Given the description of an element on the screen output the (x, y) to click on. 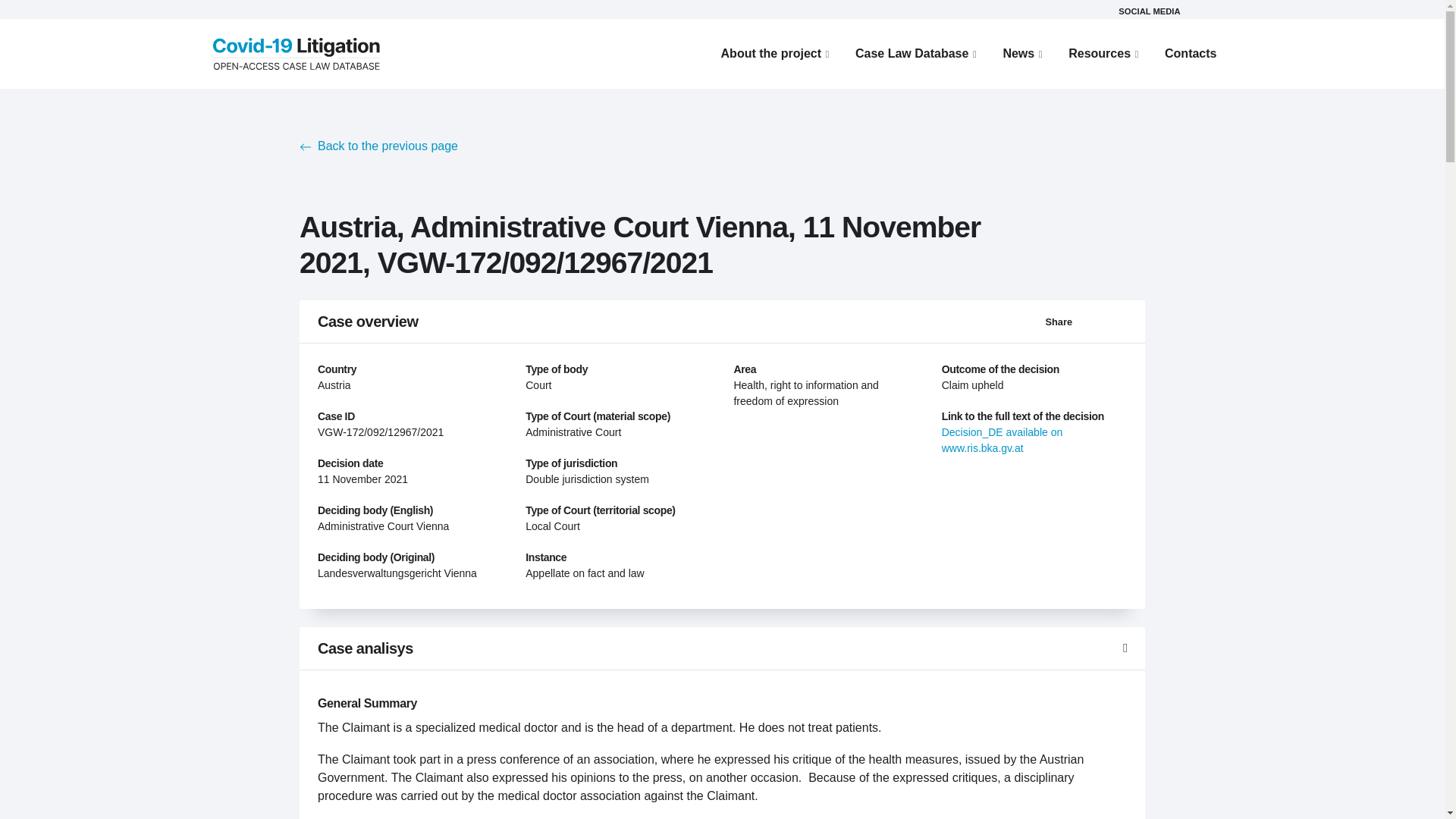
Case analisys (721, 648)
Contacts (1190, 53)
Home (295, 51)
Back to the previous page (378, 145)
